Given the description of an element on the screen output the (x, y) to click on. 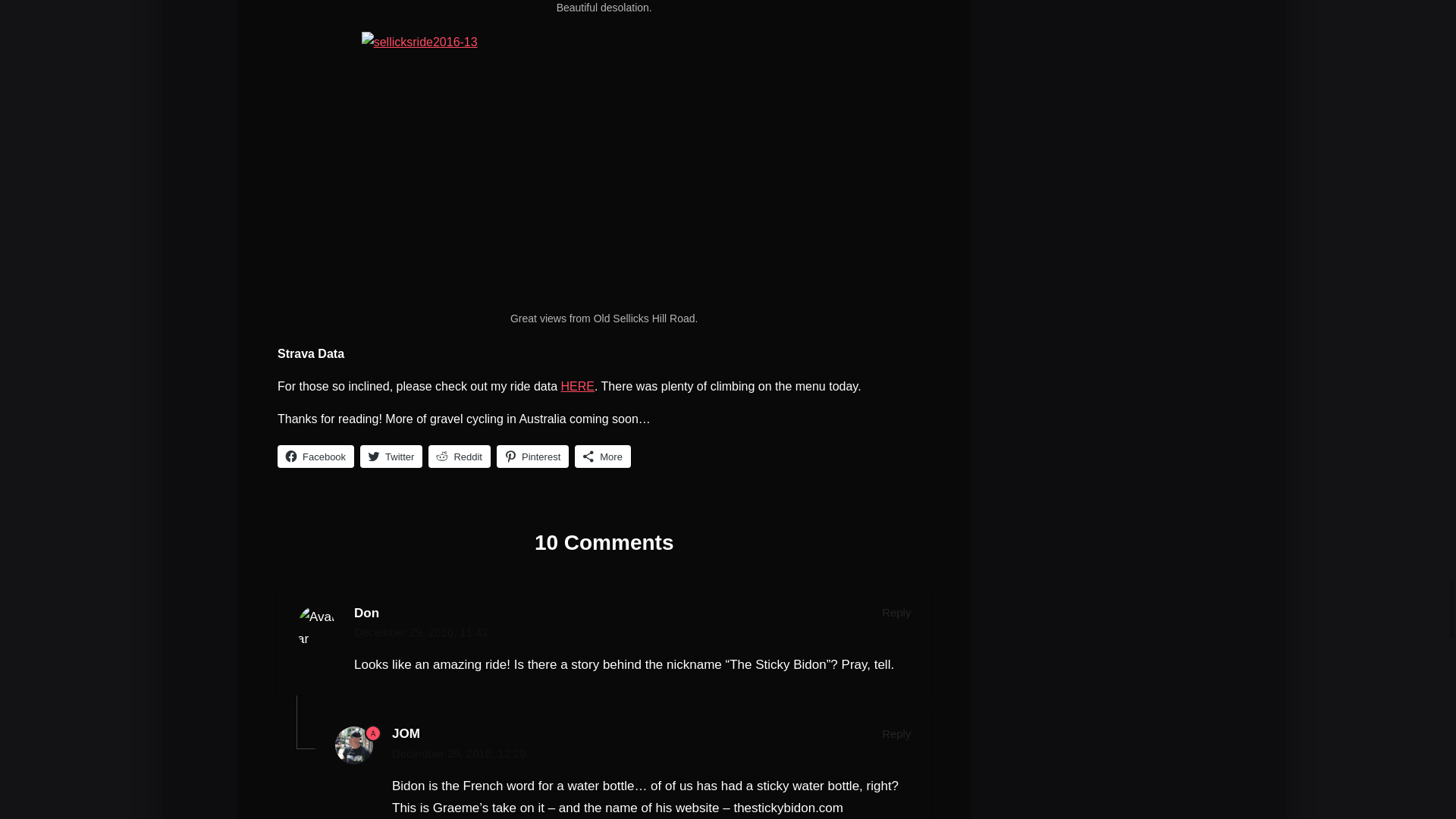
Click to share on Reddit (459, 456)
Click to share on Pinterest (532, 456)
Click to share on Facebook (315, 456)
Click to share on Twitter (390, 456)
The post author (373, 733)
